Given the description of an element on the screen output the (x, y) to click on. 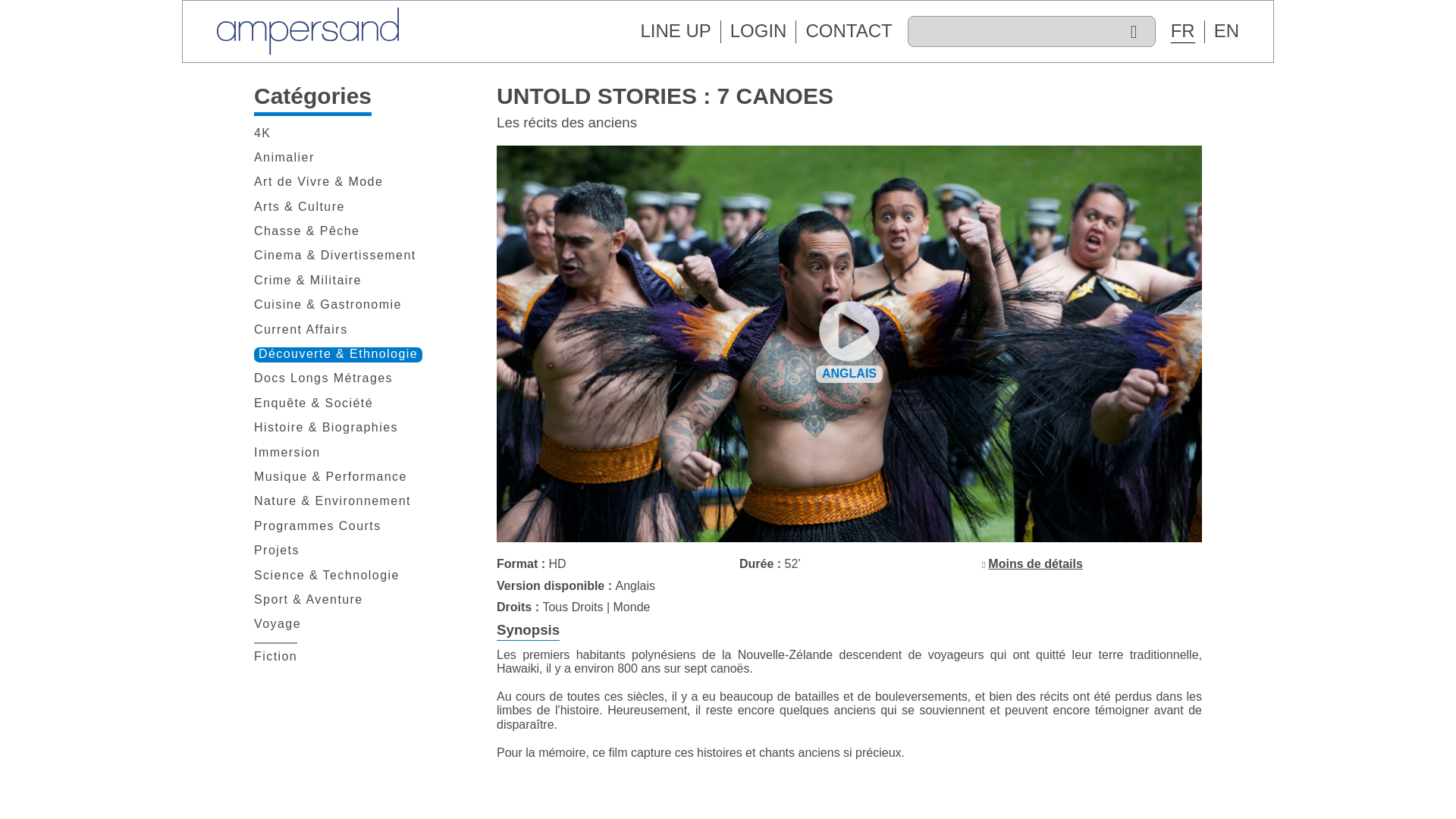
Voyage (277, 624)
Immersion (286, 453)
4K (261, 133)
LOGIN (758, 30)
Current Affairs (300, 330)
LINE UP (675, 30)
Fiction (275, 657)
Animalier (283, 158)
Programmes Courts (317, 526)
CONTACT (848, 30)
Projets (276, 550)
